Given the description of an element on the screen output the (x, y) to click on. 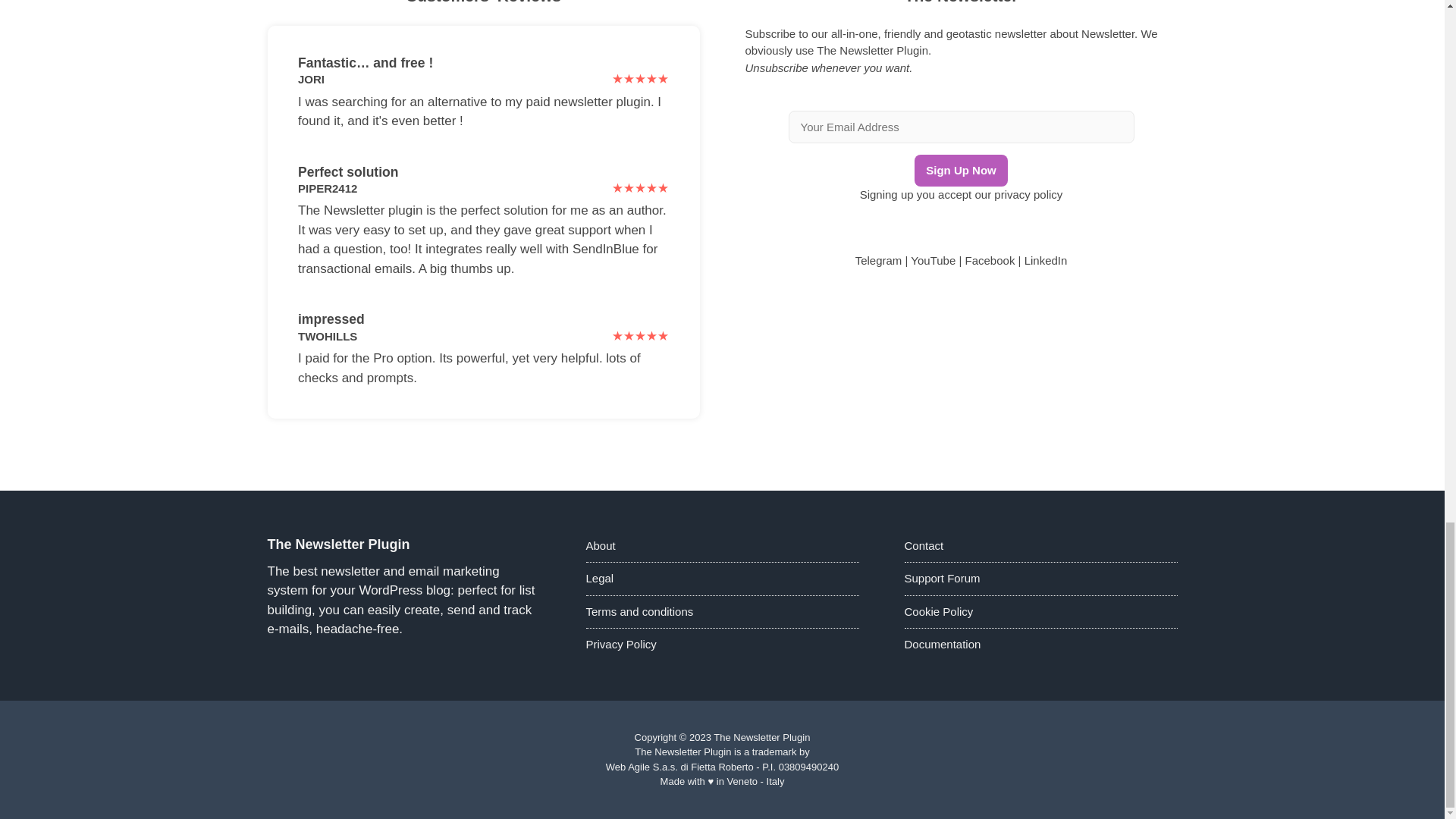
Sign Up Now (960, 169)
Sign Up Now (960, 169)
privacy policy (1028, 194)
